Given the description of an element on the screen output the (x, y) to click on. 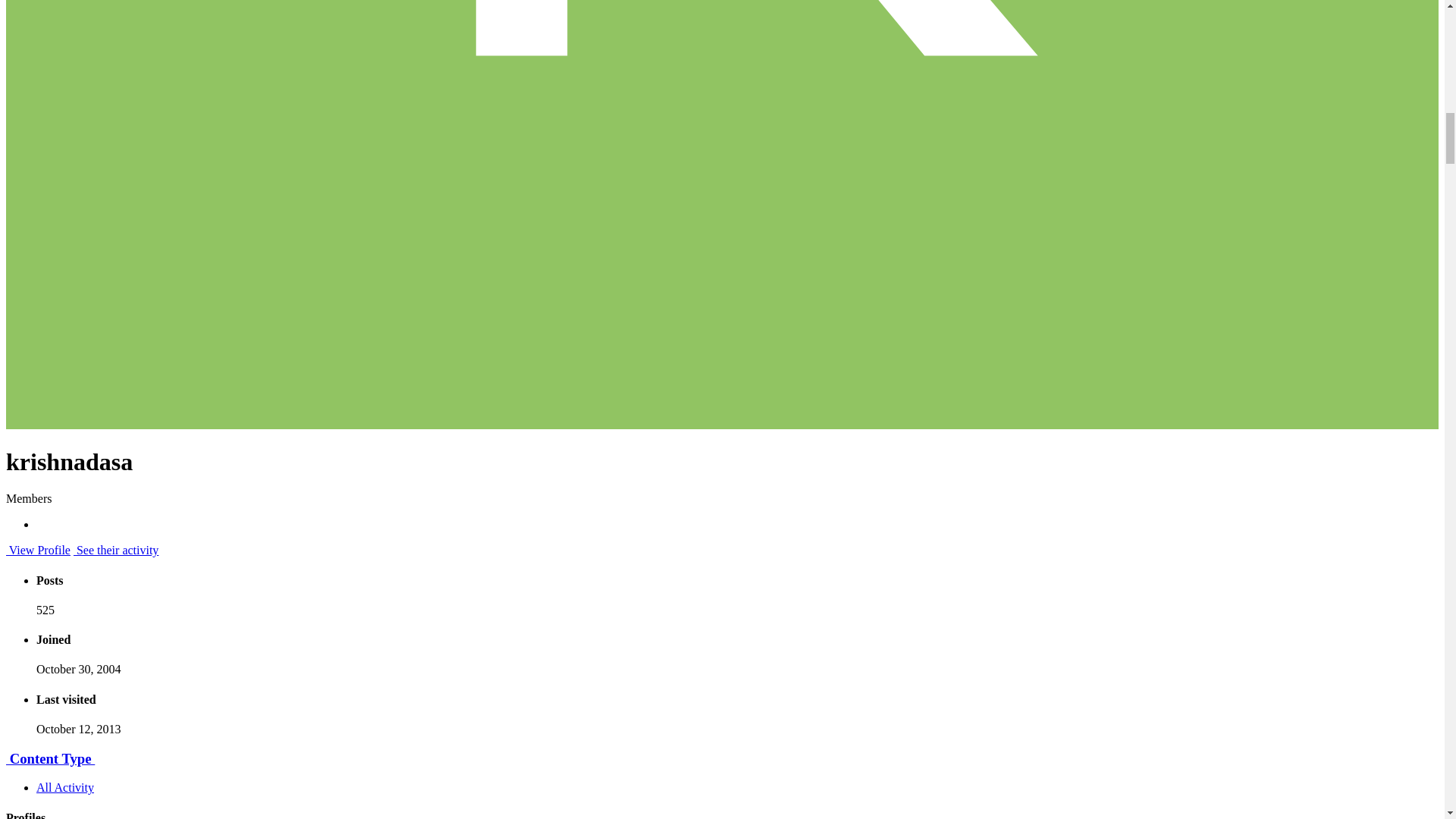
 Content Type  (49, 758)
 View Profile (37, 549)
All Activity (65, 787)
krishnadasa's Profile (37, 549)
 See their activity (116, 549)
krishnadasa's Content (116, 549)
